Given the description of an element on the screen output the (x, y) to click on. 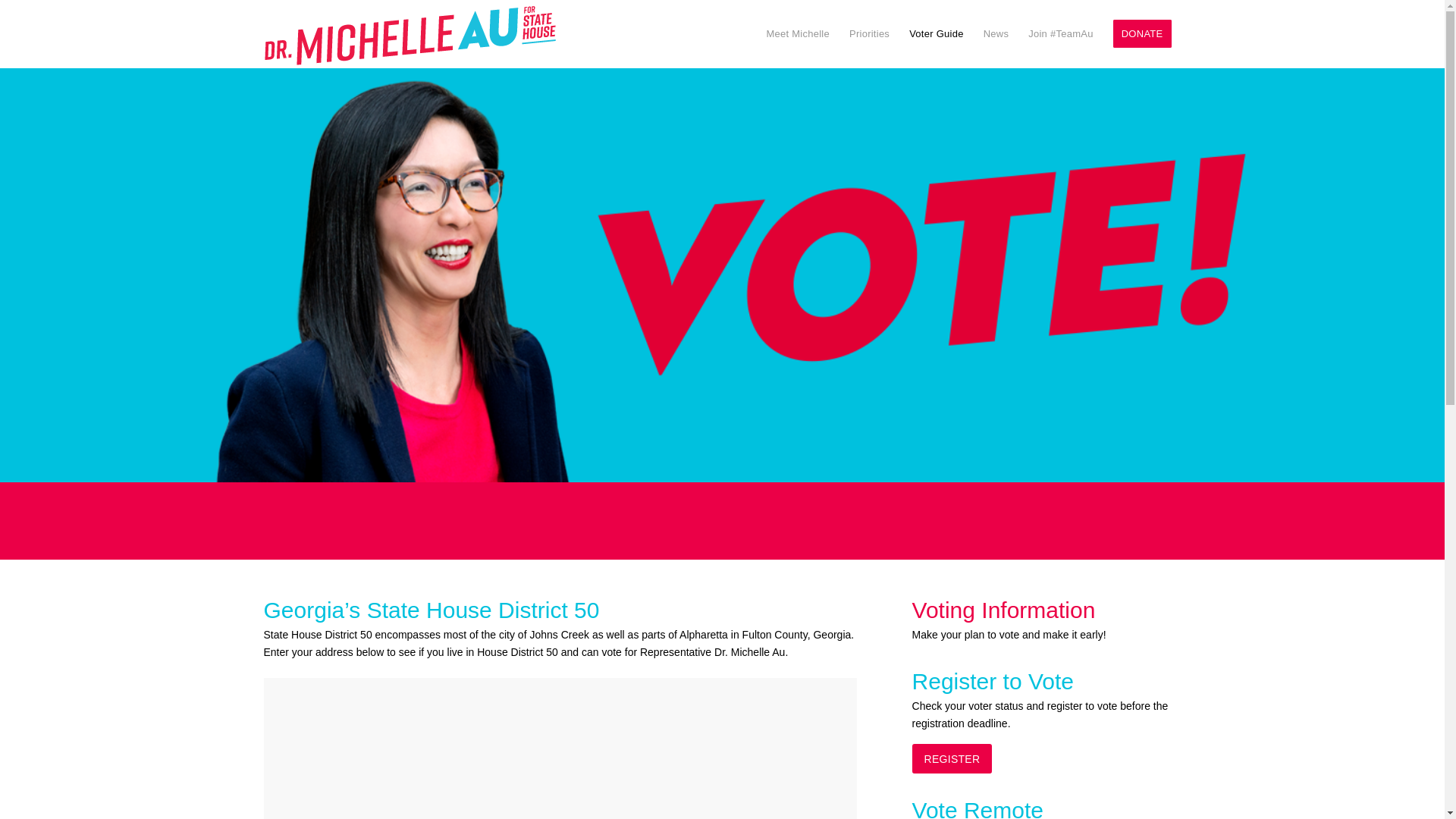
Meet Michelle (797, 33)
REGISTER (952, 758)
2023 House District 50 (560, 748)
DONATE (1141, 33)
Voter Guide (936, 33)
